Given the description of an element on the screen output the (x, y) to click on. 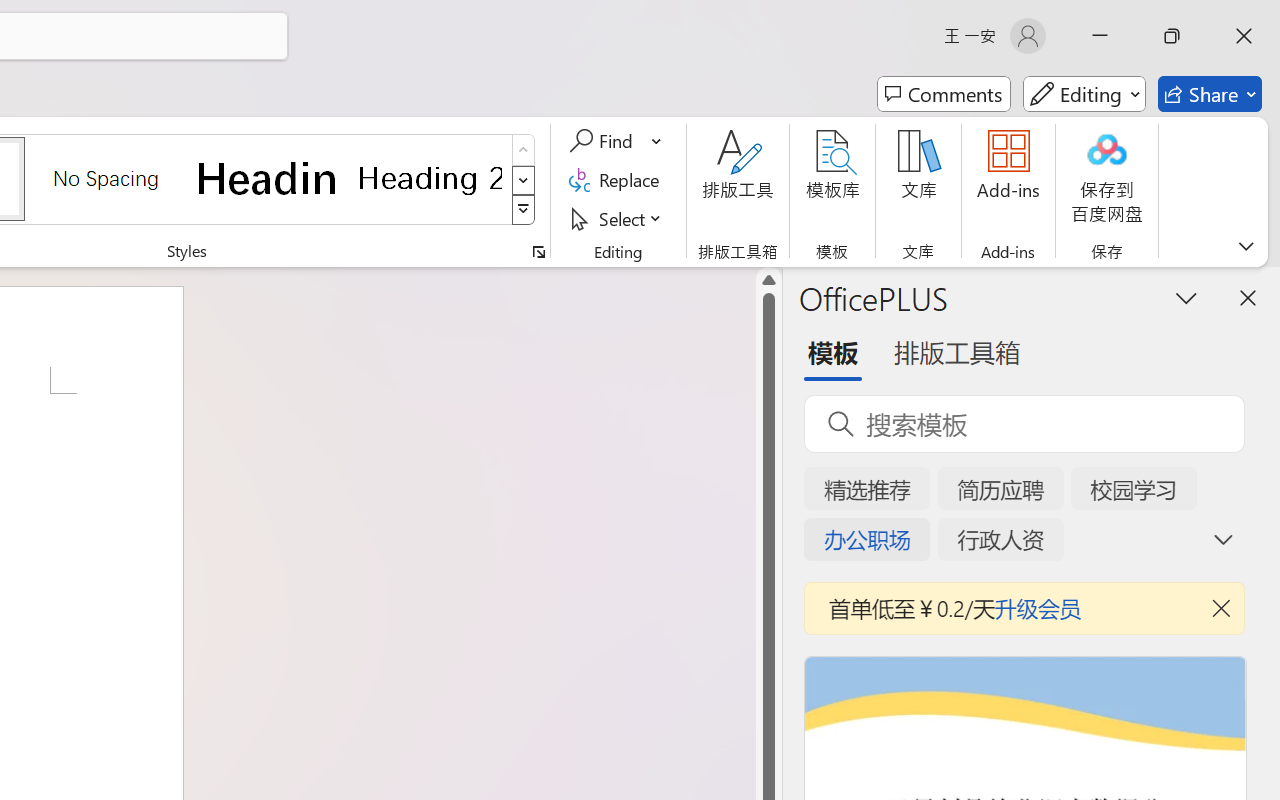
Close (1244, 36)
Find (616, 141)
Heading 2 (429, 178)
Row up (523, 150)
Styles (523, 209)
Ribbon Display Options (1246, 245)
